Given the description of an element on the screen output the (x, y) to click on. 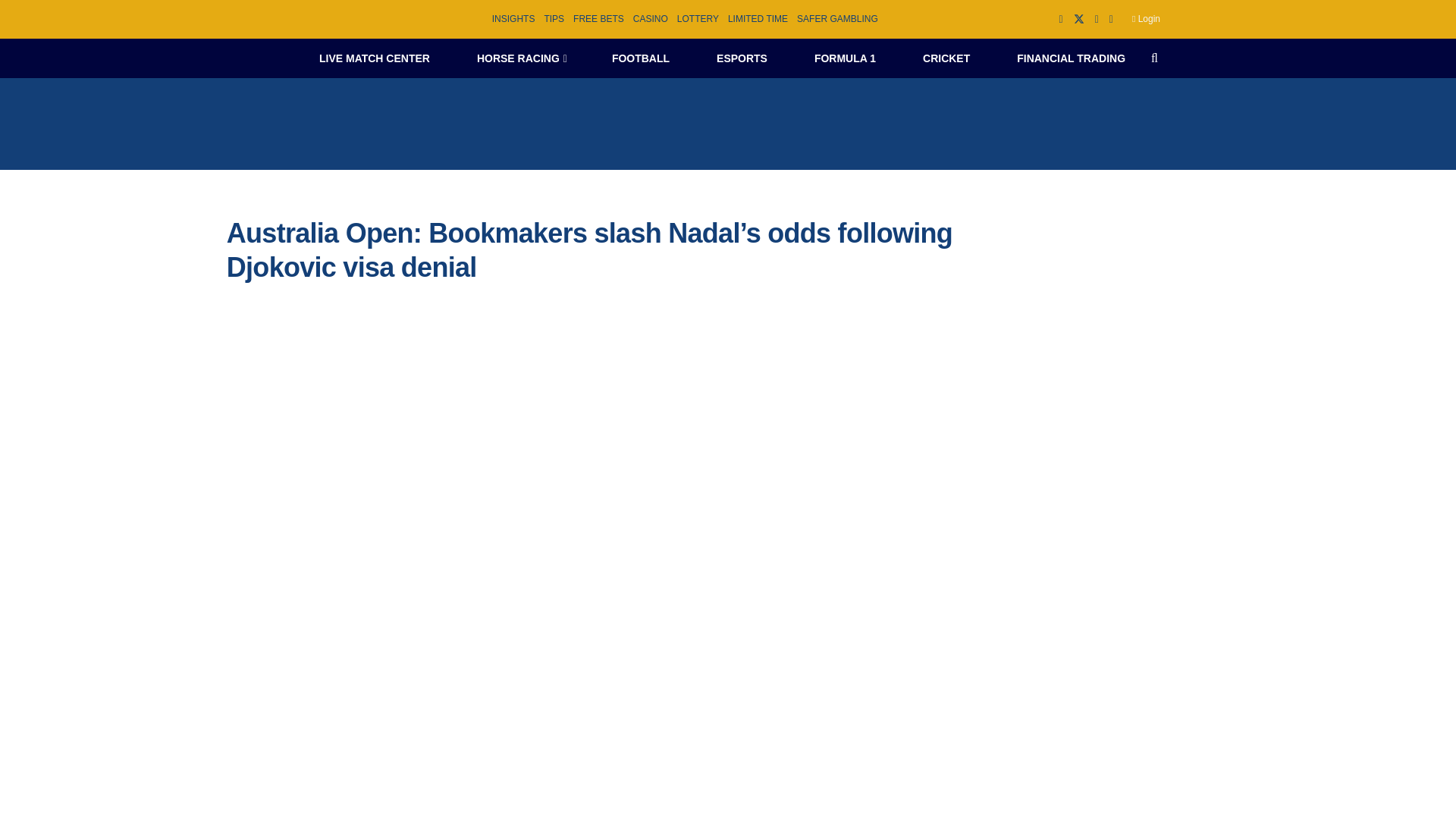
FREE BETS (598, 19)
LIMITED TIME (757, 19)
FINANCIAL TRADING (1070, 57)
FORMULA 1 (844, 57)
ESPORTS (741, 57)
LIVE MATCH CENTER (373, 57)
SAFER GAMBLING (836, 19)
FOOTBALL (640, 57)
LOTTERY (698, 19)
CASINO (650, 19)
